Given the description of an element on the screen output the (x, y) to click on. 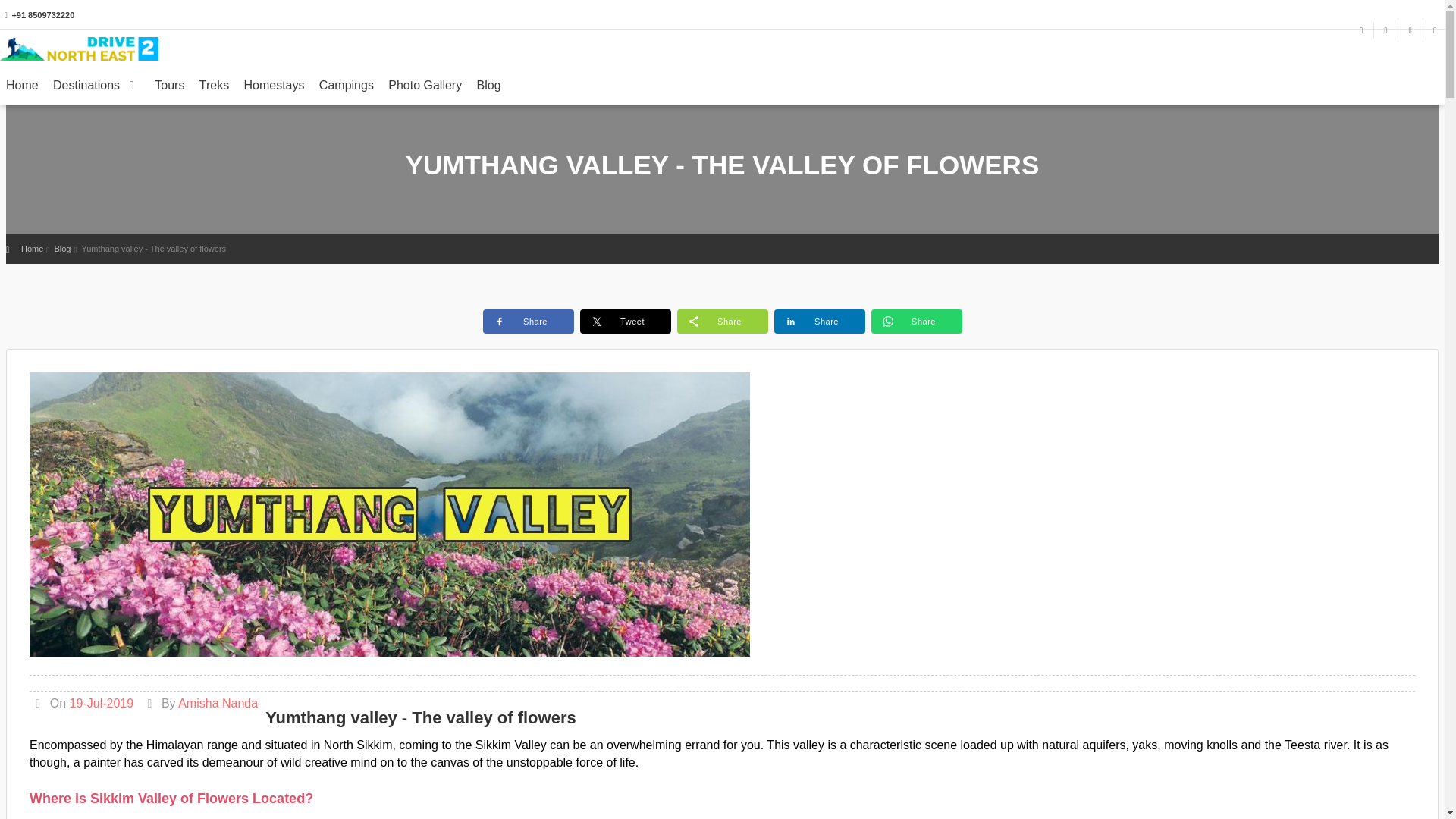
Tours (169, 90)
Photo Gallery (424, 90)
Blog (488, 90)
Homestays (273, 90)
Campings (346, 90)
Destinations (96, 90)
Treks (213, 90)
Home (22, 90)
Blog (61, 248)
Home (32, 248)
